Given the description of an element on the screen output the (x, y) to click on. 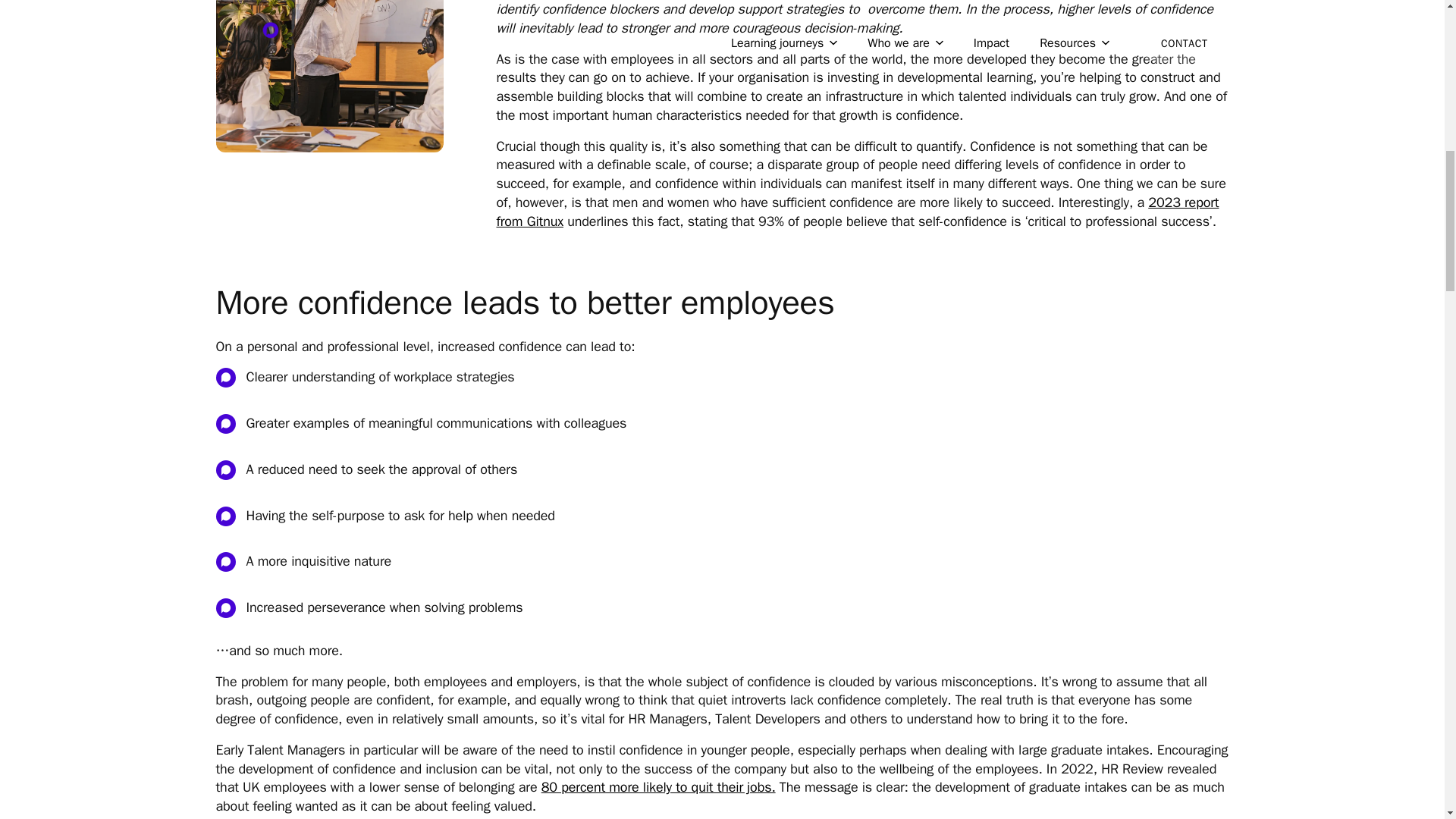
2023 report from Gitnux (857, 212)
80 percent more likely to quit their jobs. (658, 786)
